Given the description of an element on the screen output the (x, y) to click on. 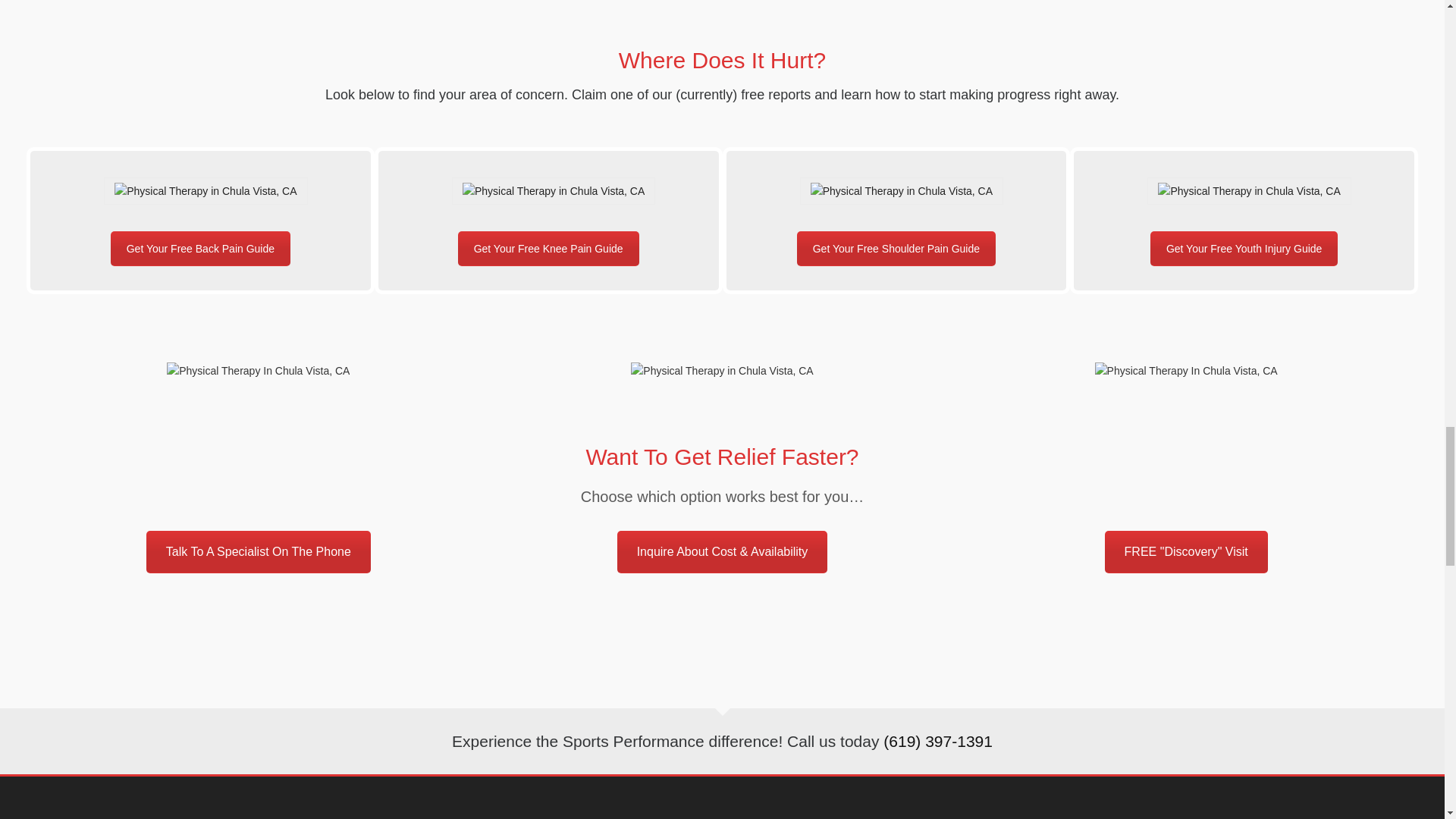
5 Ways to Ease Knee Pain (554, 190)
6 Ways to Overcome Shoulder Pain (901, 190)
7 Ways to End Pain (206, 190)
